Given the description of an element on the screen output the (x, y) to click on. 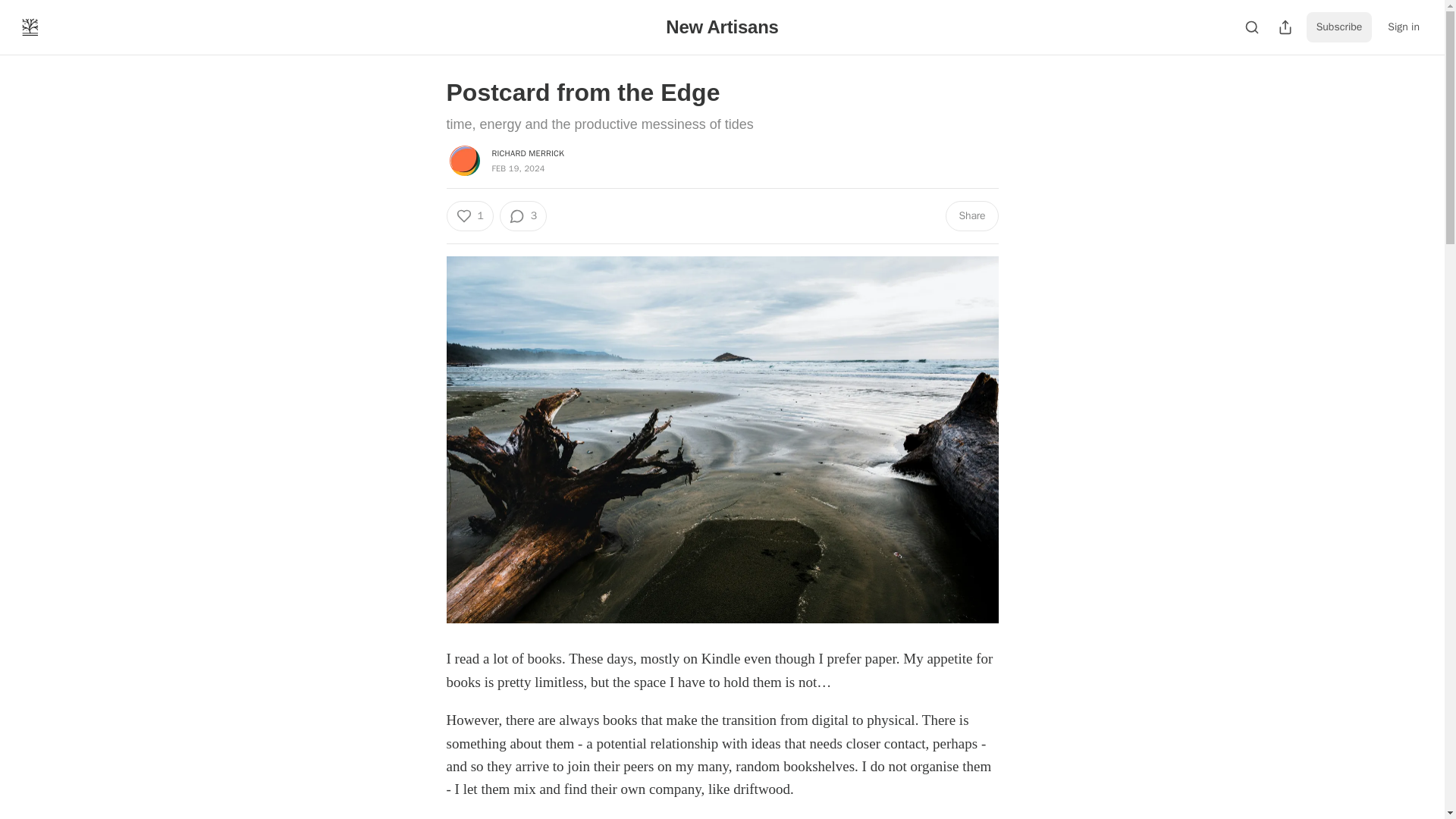
Subscribe (1339, 27)
Sign in (1403, 27)
RICHARD MERRICK (528, 153)
Share (970, 215)
New Artisans (721, 26)
1 (469, 215)
3 (523, 215)
